Given the description of an element on the screen output the (x, y) to click on. 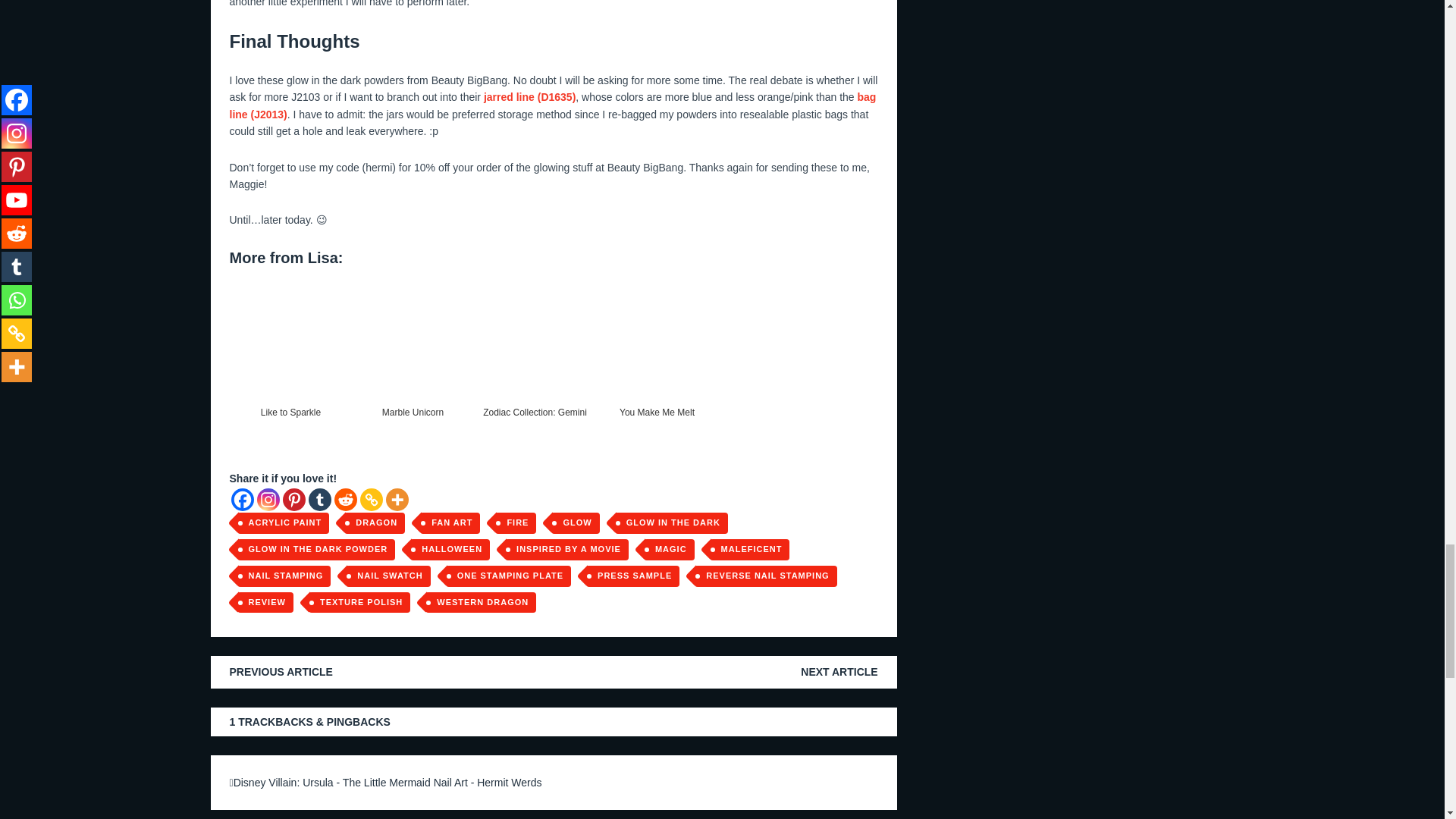
Pinterest (293, 499)
More (396, 499)
Reddit (344, 499)
Copy Link (370, 499)
Tumblr (318, 499)
Instagram (267, 499)
Facebook (241, 499)
